Given the description of an element on the screen output the (x, y) to click on. 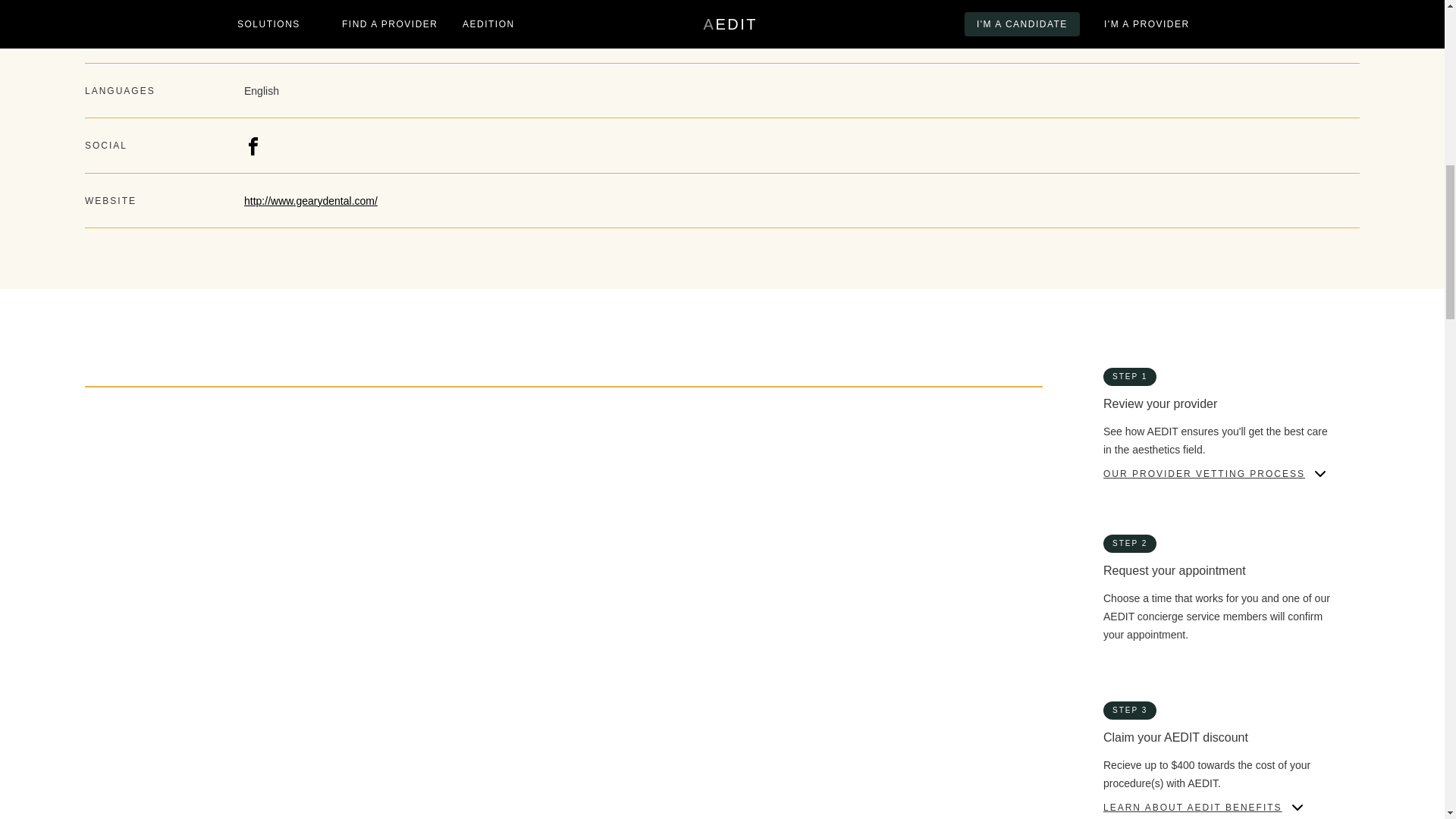
OVERCROWDING (132, 538)
UNDERBITE (766, 538)
OVERBITE (762, 505)
DISCOLORED TEETH (143, 471)
MALFORMED TEETH (789, 471)
CHIPPED TEETH (455, 439)
DENTAL VENEERS (135, 638)
TEETH WHITENING (462, 638)
DENTAL BRIDGES (134, 605)
DENTAL IMPLANTS (785, 605)
DENTAL CROWNS (458, 605)
GUMMY SMILE (449, 471)
OVERJET (435, 538)
OPENBITE (438, 505)
